Given the description of an element on the screen output the (x, y) to click on. 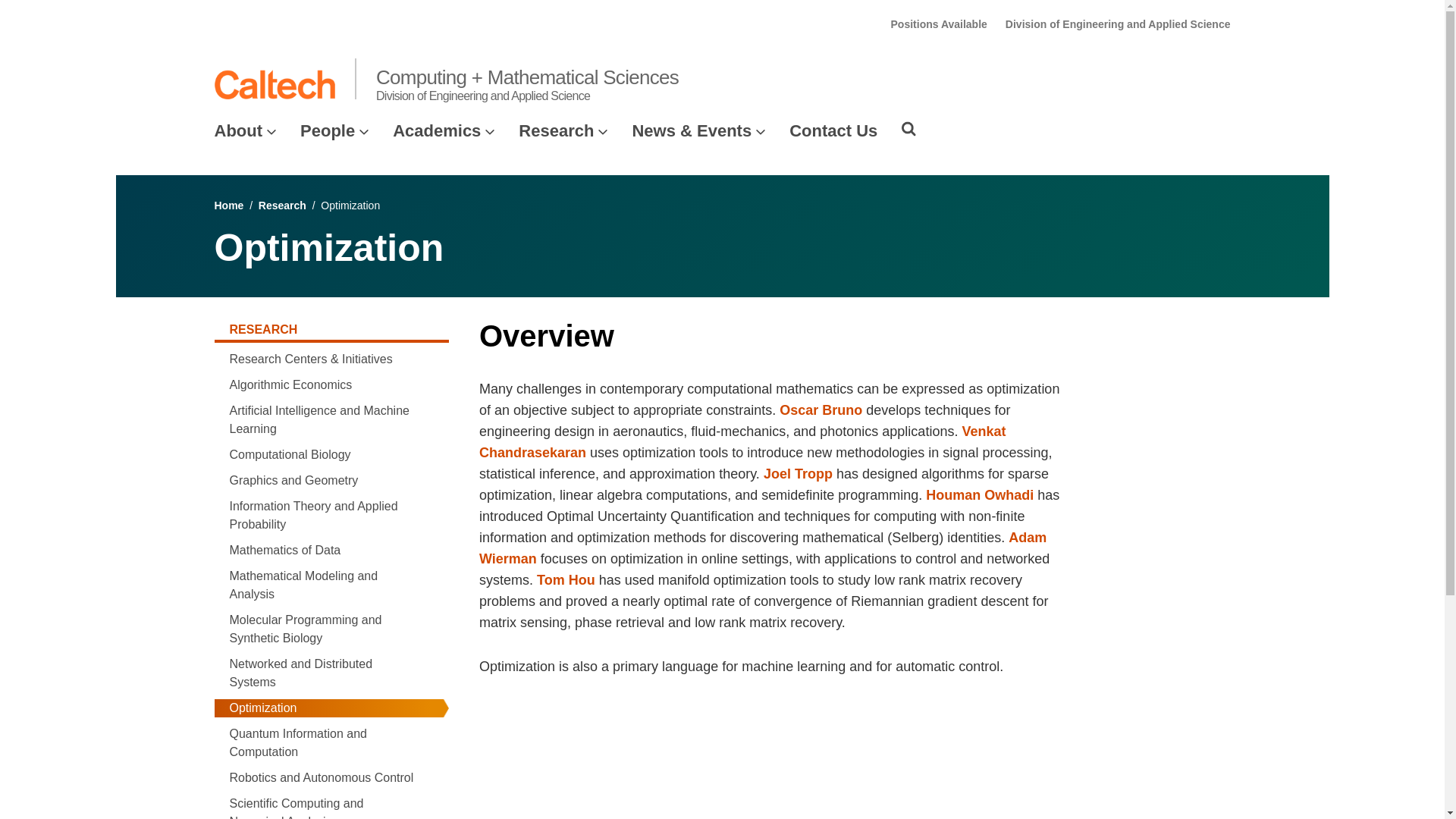
About (238, 130)
Academics (436, 130)
Division of Engineering and Applied Science (1118, 24)
skip to main content (53, 12)
People (327, 130)
Positions Available (939, 24)
